Given the description of an element on the screen output the (x, y) to click on. 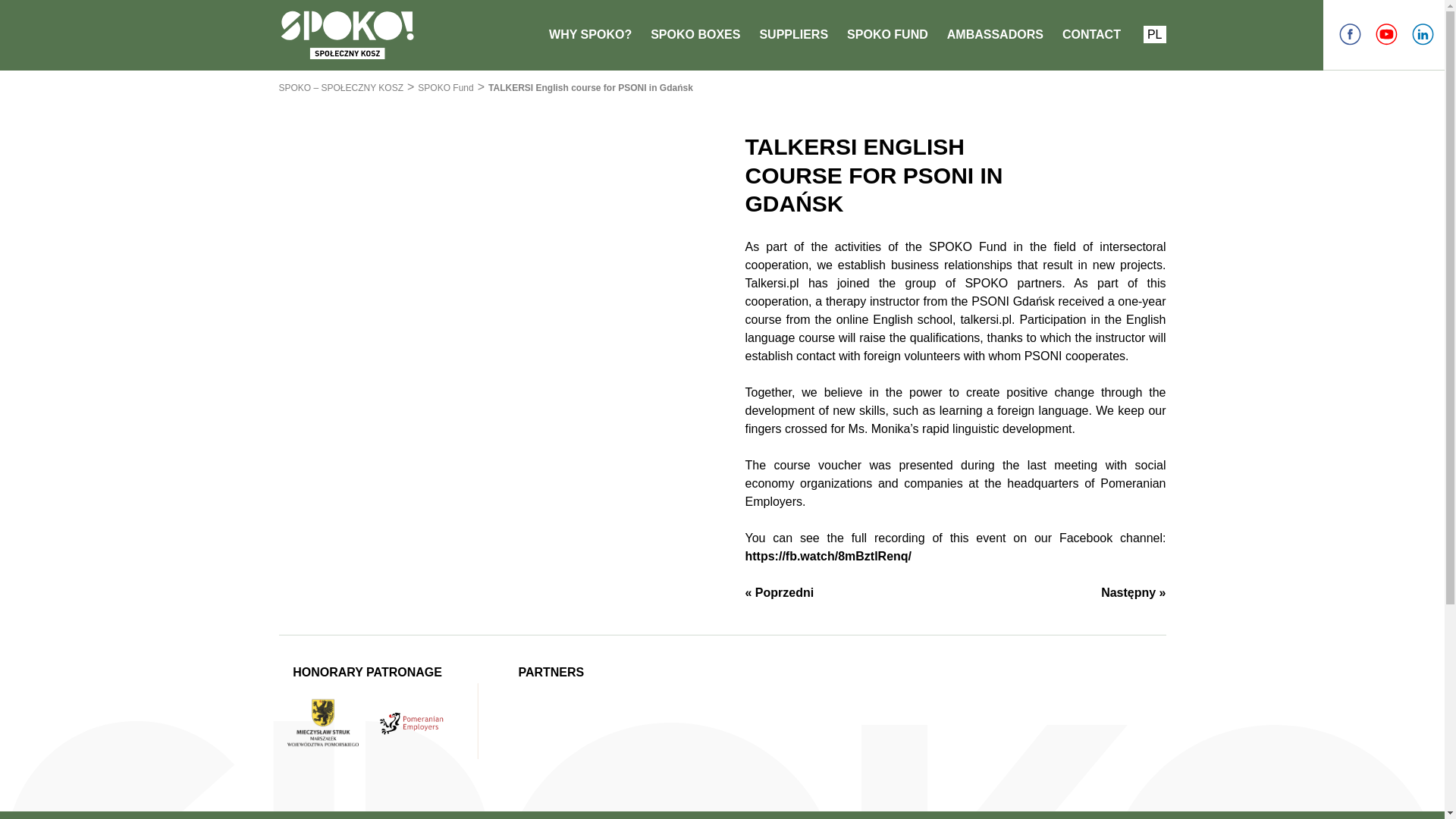
PL (1154, 34)
SPOKO FUND (887, 33)
SPOKO Fund (445, 87)
CONTACT (1091, 33)
WHY SPOKO? (589, 33)
SPOKO BOXES (694, 33)
AMBASSADORS (995, 33)
SPOKO Fund (445, 87)
SUPPLIERS (793, 33)
